Given the description of an element on the screen output the (x, y) to click on. 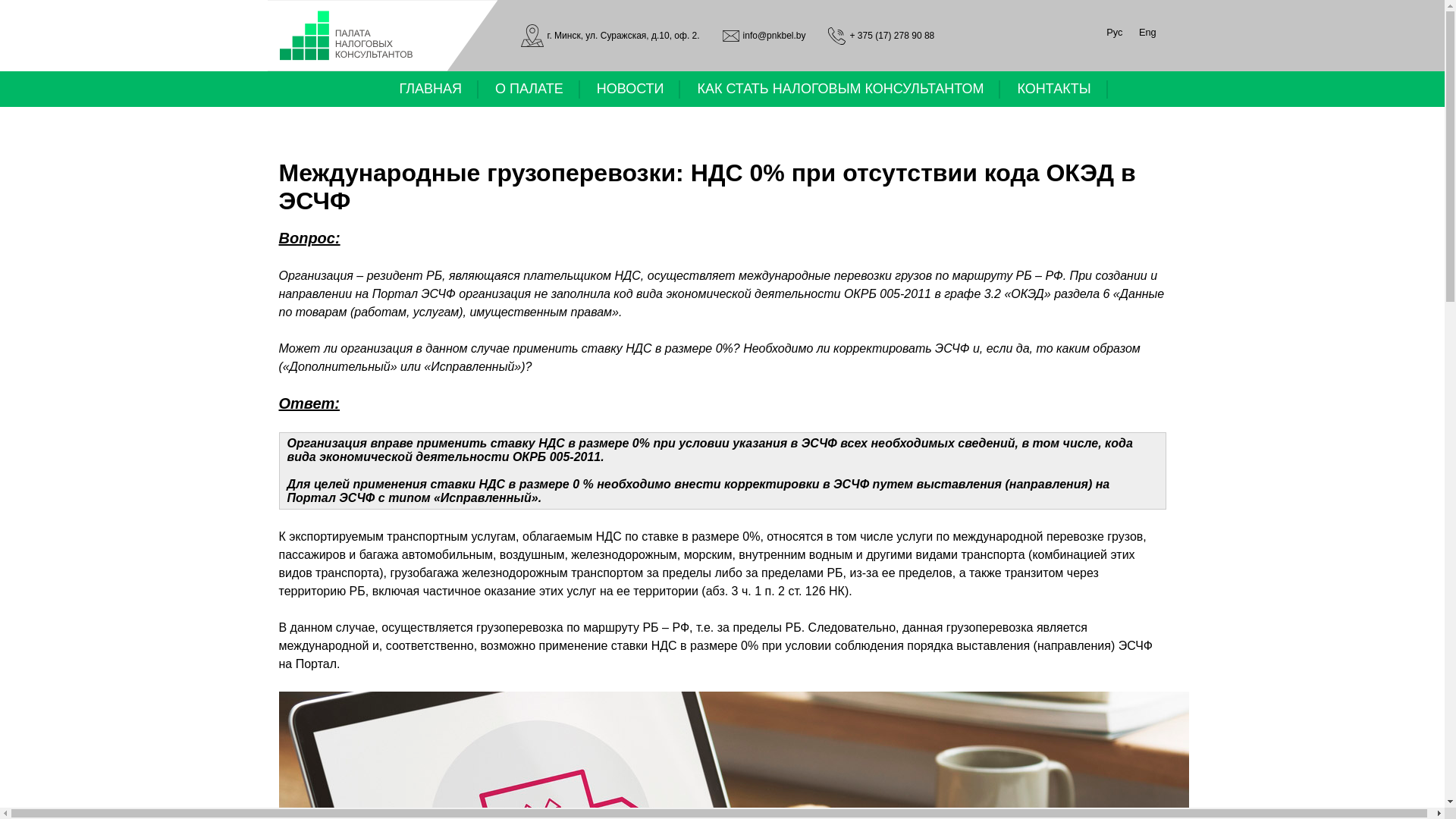
+ 375 (17) 278 90 88 Element type: text (881, 35)
info@pnkbel.by Element type: text (764, 35)
Eng Element type: text (1147, 31)
